Given the description of an element on the screen output the (x, y) to click on. 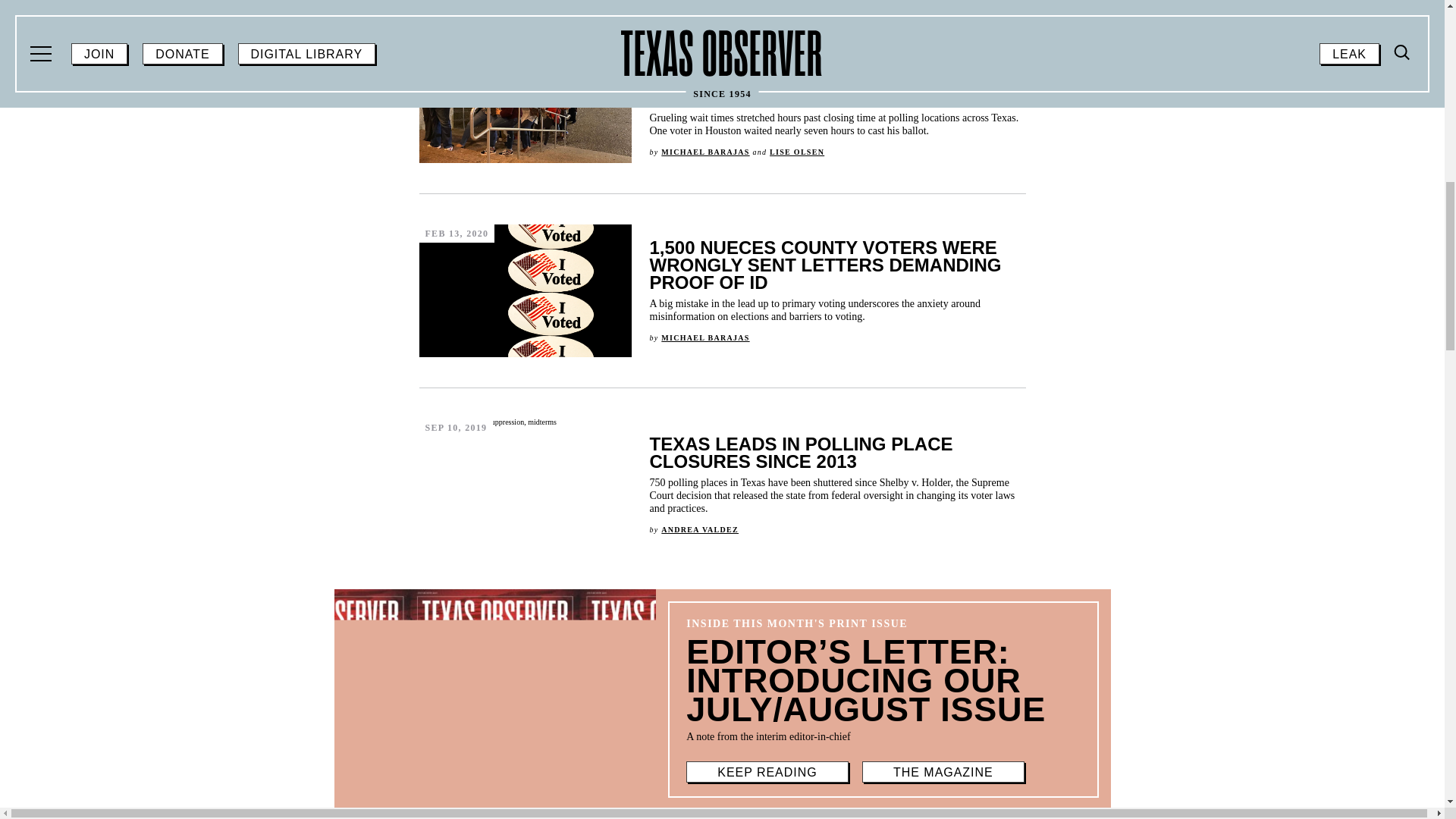
Post by Lise Olsen (797, 152)
Post by Andrea Valdez (699, 528)
Post by Michael Barajas (705, 152)
Post by Michael Barajas (705, 337)
